Given the description of an element on the screen output the (x, y) to click on. 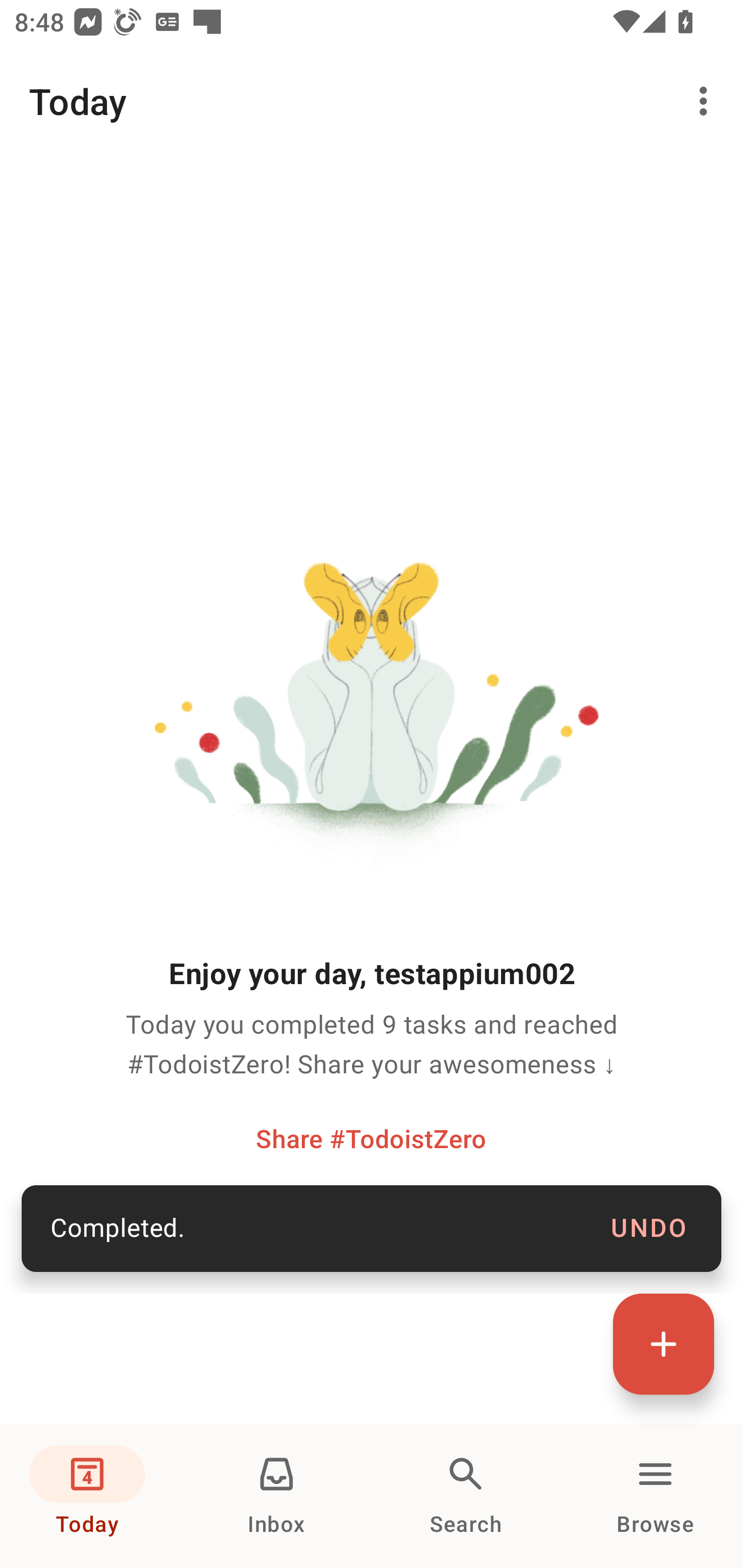
Today More options (371, 100)
More options (706, 101)
Share #TodoistZero (370, 1138)
UNDO (648, 1228)
Quick add (663, 1343)
Inbox (276, 1495)
Search (465, 1495)
Browse (655, 1495)
